Given the description of an element on the screen output the (x, y) to click on. 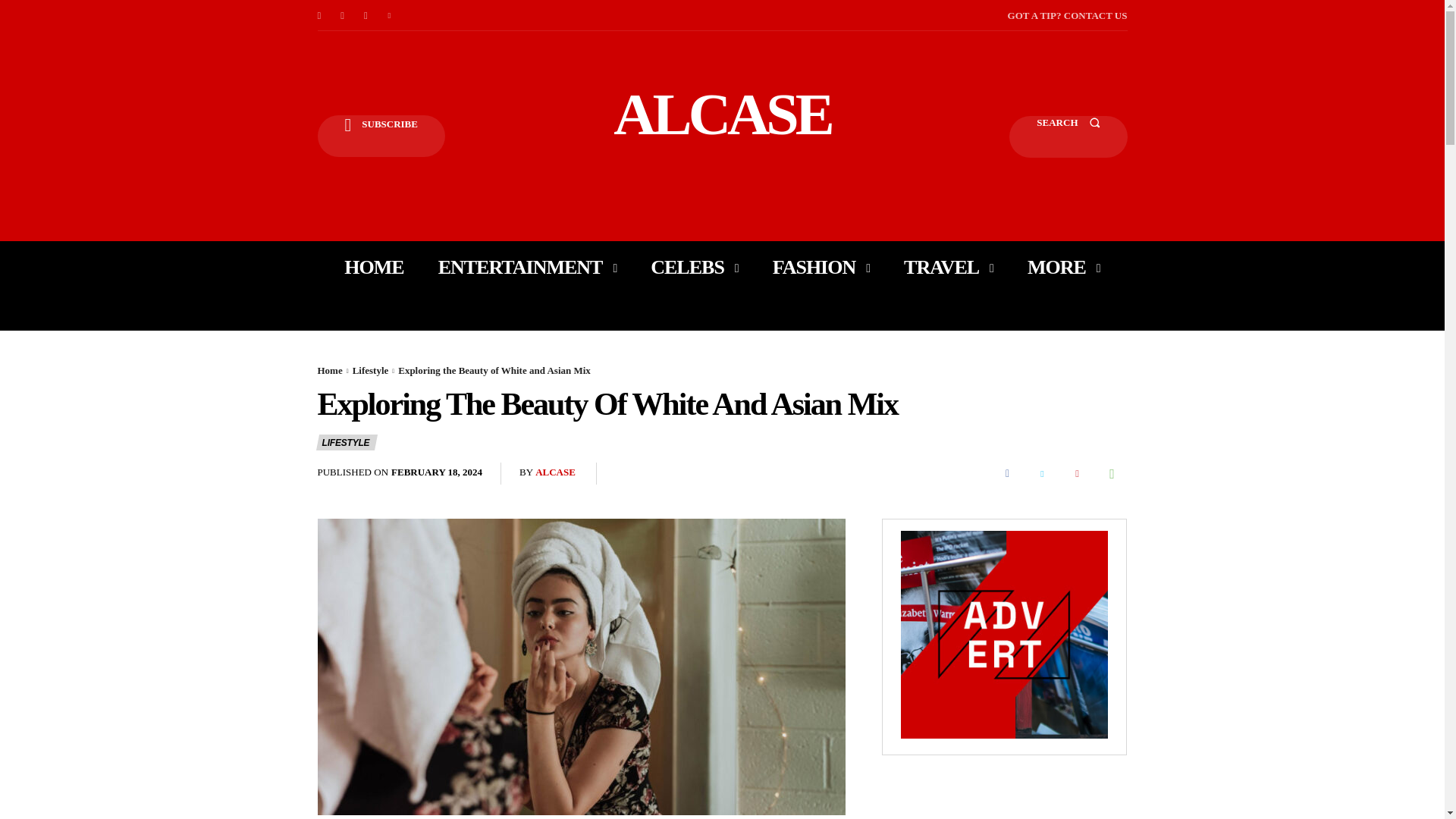
SEARCH (1067, 137)
TikTok (366, 15)
Facebook (318, 15)
Twitter (389, 15)
Instagram (342, 15)
GOT A TIP? CONTACT US (1066, 15)
ALCASE (722, 113)
SUBSCRIBE (380, 136)
